Given the description of an element on the screen output the (x, y) to click on. 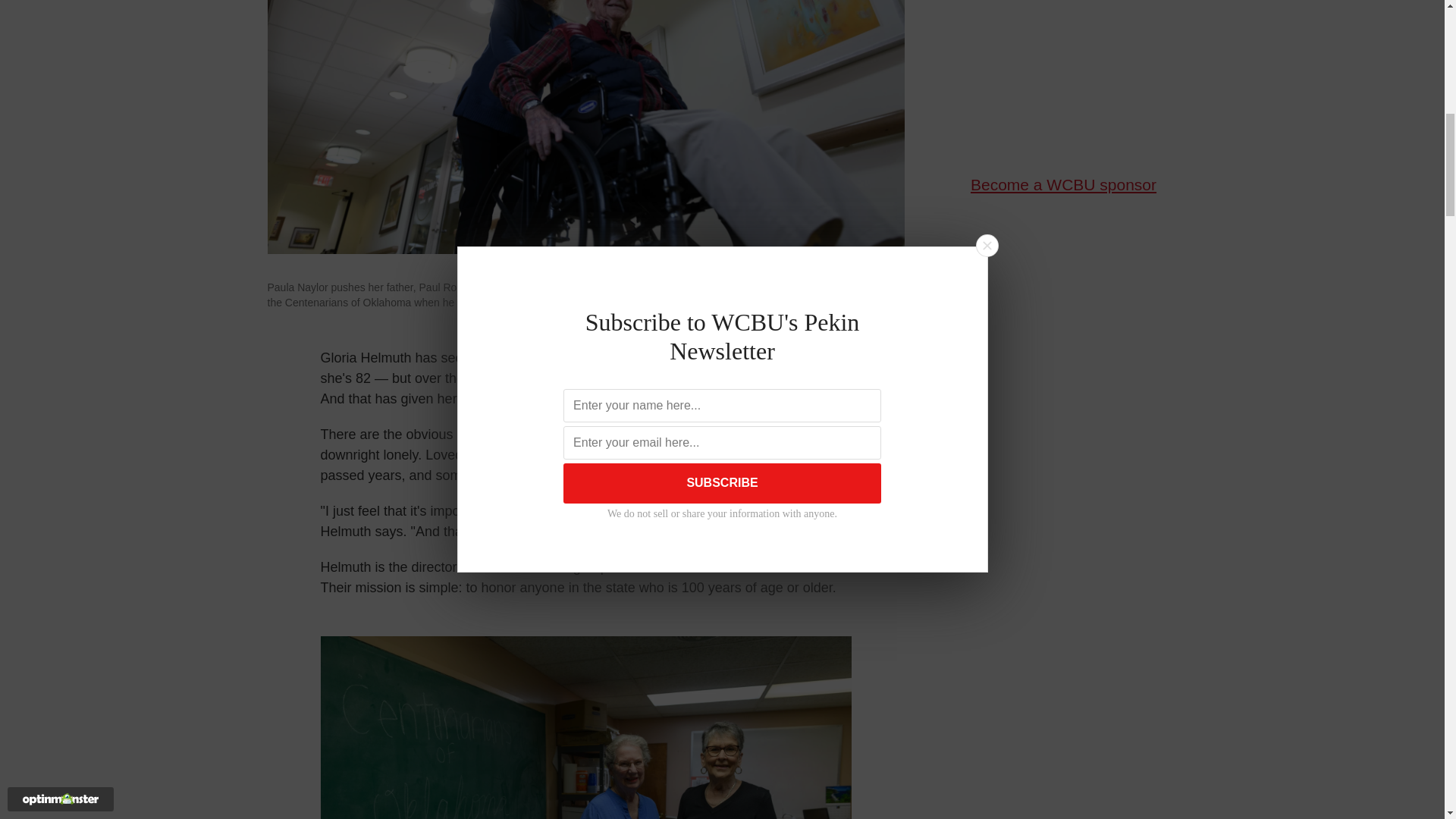
3rd party ad content (1062, 72)
